Given the description of an element on the screen output the (x, y) to click on. 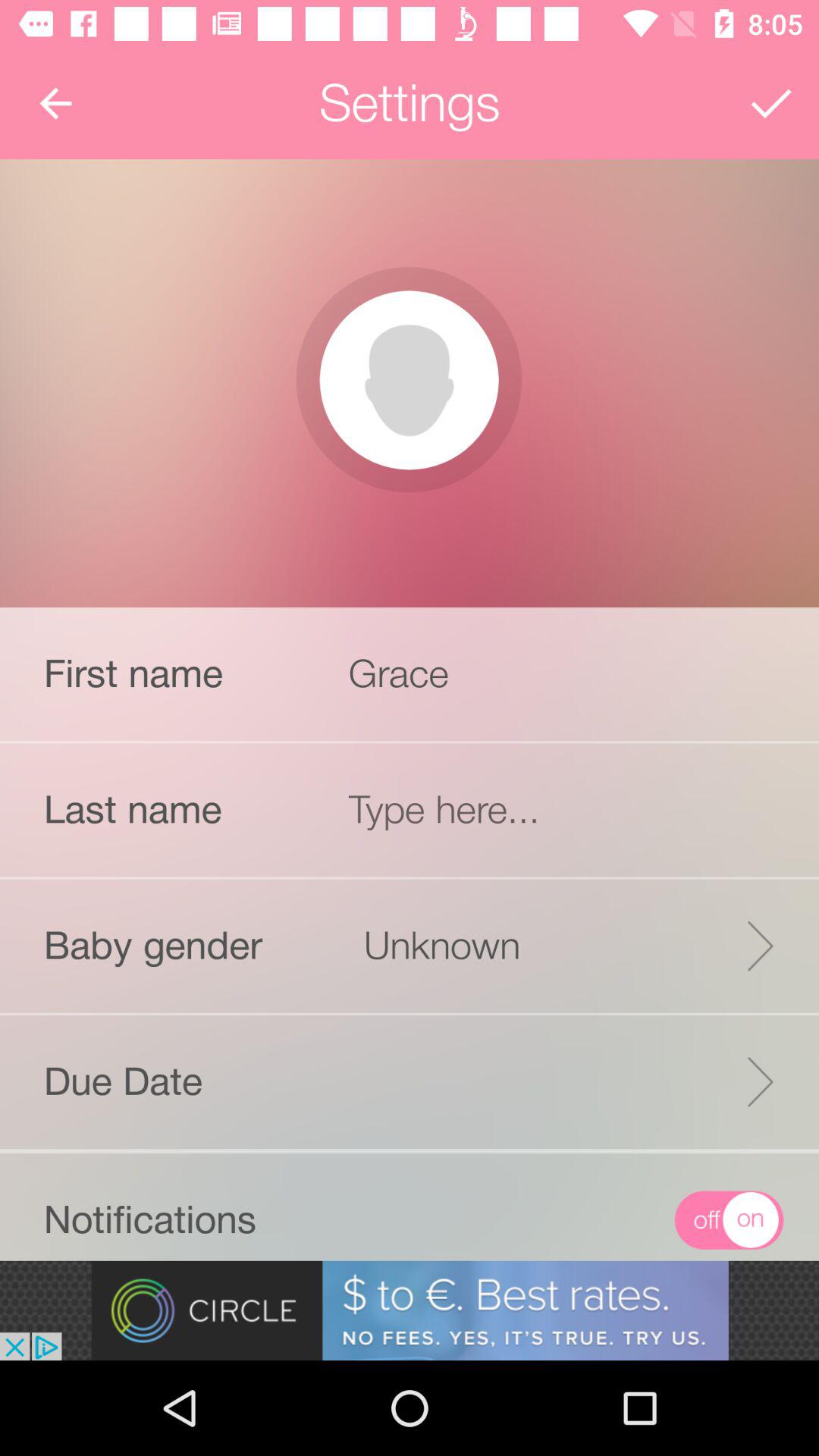
picture (408, 379)
